Given the description of an element on the screen output the (x, y) to click on. 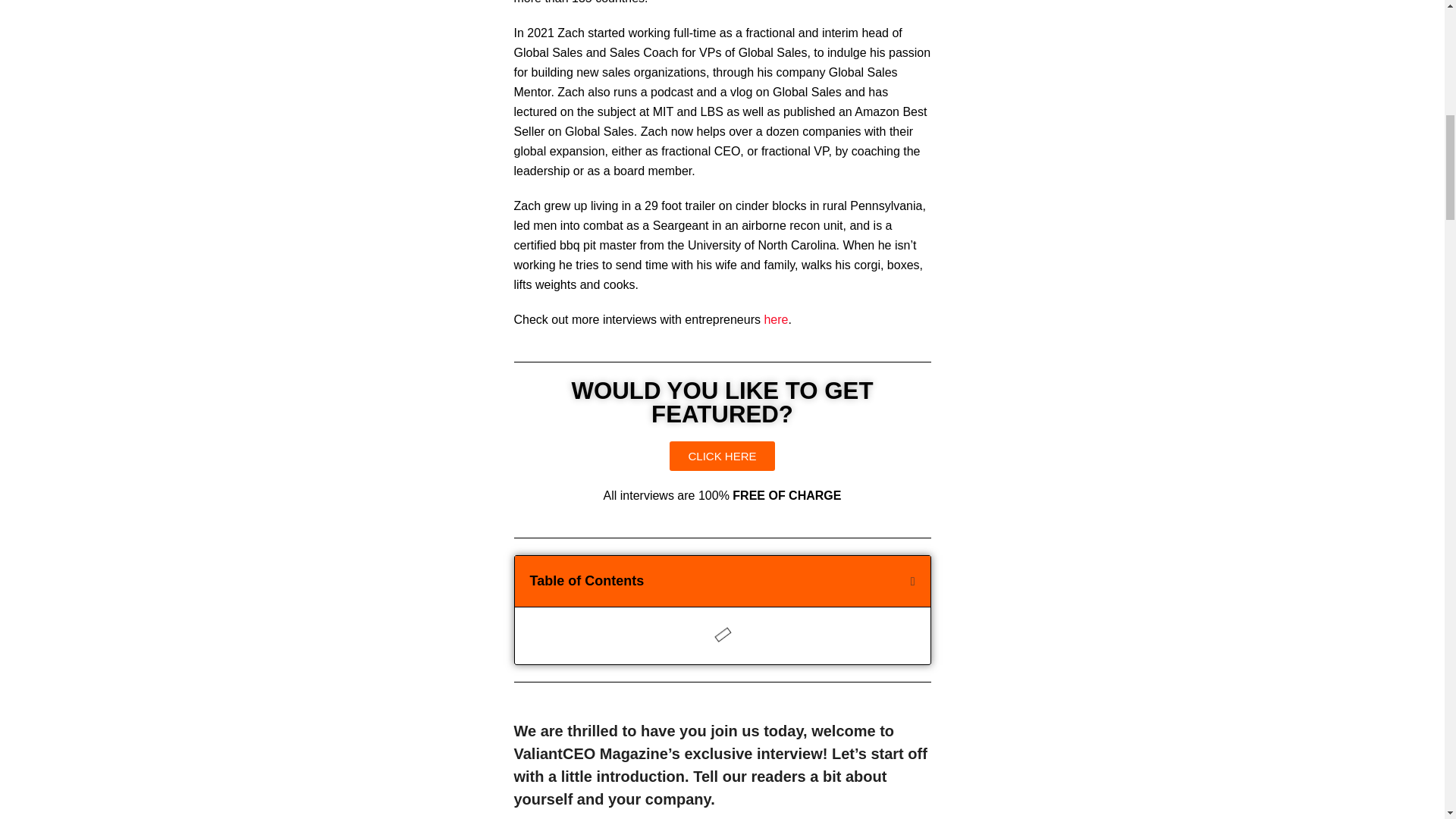
CLICK HERE (721, 455)
here (774, 318)
